Given the description of an element on the screen output the (x, y) to click on. 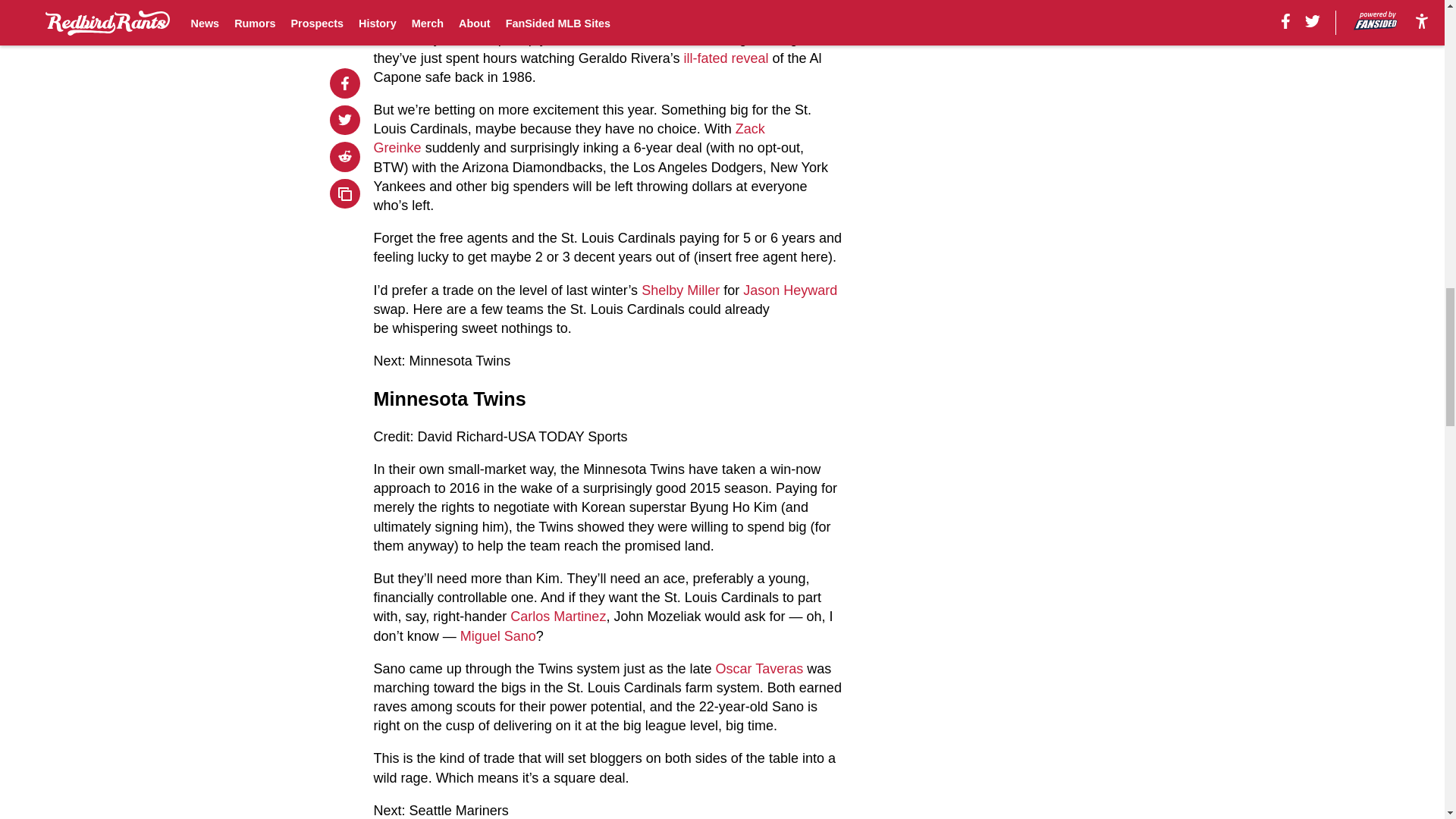
Oscar Taveras (759, 668)
Jason Heyward (789, 290)
Zack Greinke (569, 138)
Miguel Sano (497, 635)
Shelby Miller (680, 290)
ill-fated reveal (725, 58)
Carlos Martinez (558, 616)
